Given the description of an element on the screen output the (x, y) to click on. 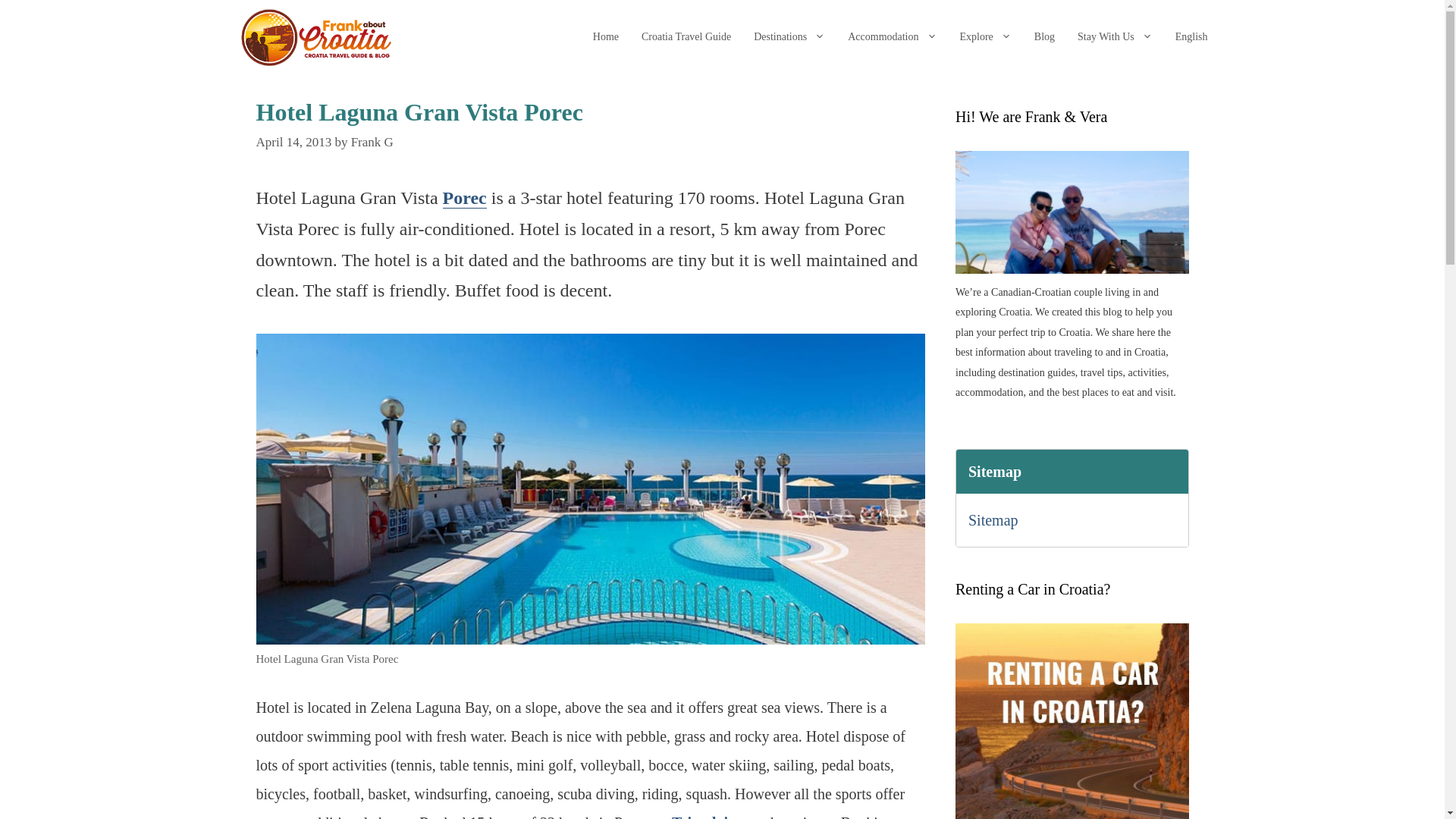
Explore (986, 37)
Croatia Travel Guide (686, 37)
Accommodation in Croatia (891, 37)
Accommodation (891, 37)
Home (605, 37)
Croatia Travel Guide and Blog (309, 37)
Destinations (788, 37)
